Given the description of an element on the screen output the (x, y) to click on. 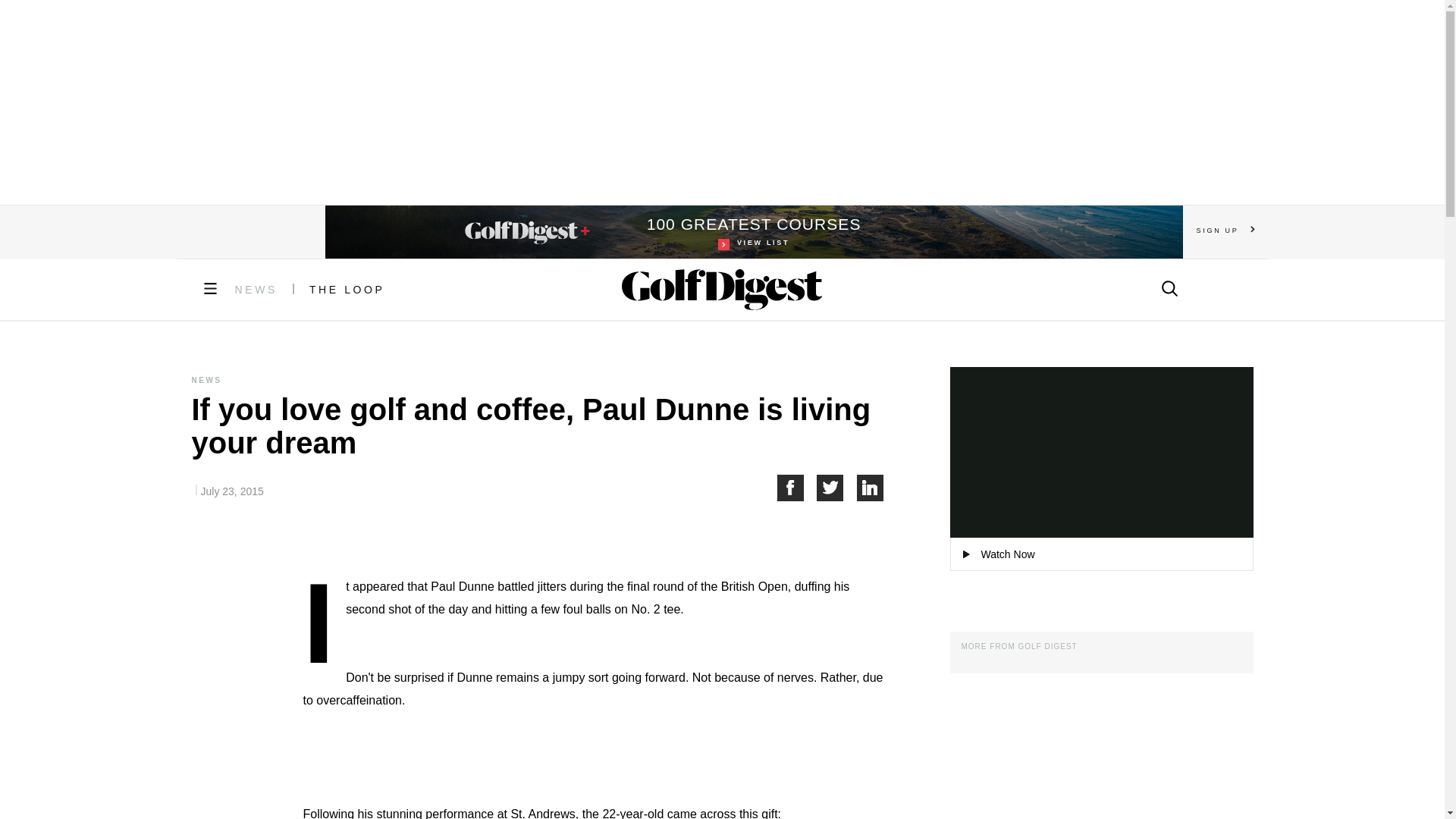
Share on Facebook (796, 488)
SIGN UP (1225, 230)
Share on LinkedIn (870, 488)
Share on Twitter (753, 231)
THE LOOP (836, 488)
NEWS (346, 289)
